Given the description of an element on the screen output the (x, y) to click on. 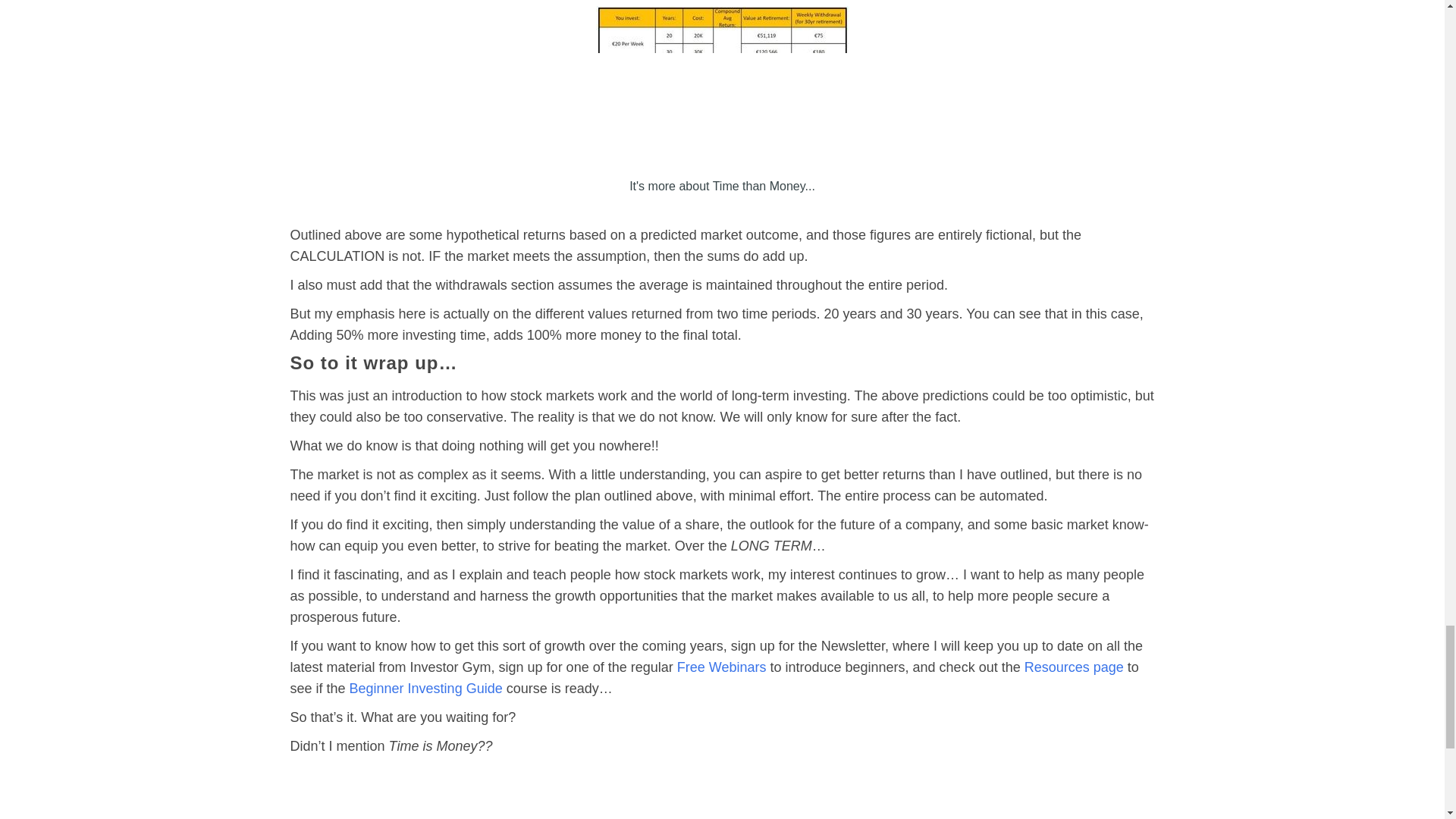
Free Webinars (722, 667)
Resources page (1074, 667)
Beginner Investing Guide (425, 688)
